Given the description of an element on the screen output the (x, y) to click on. 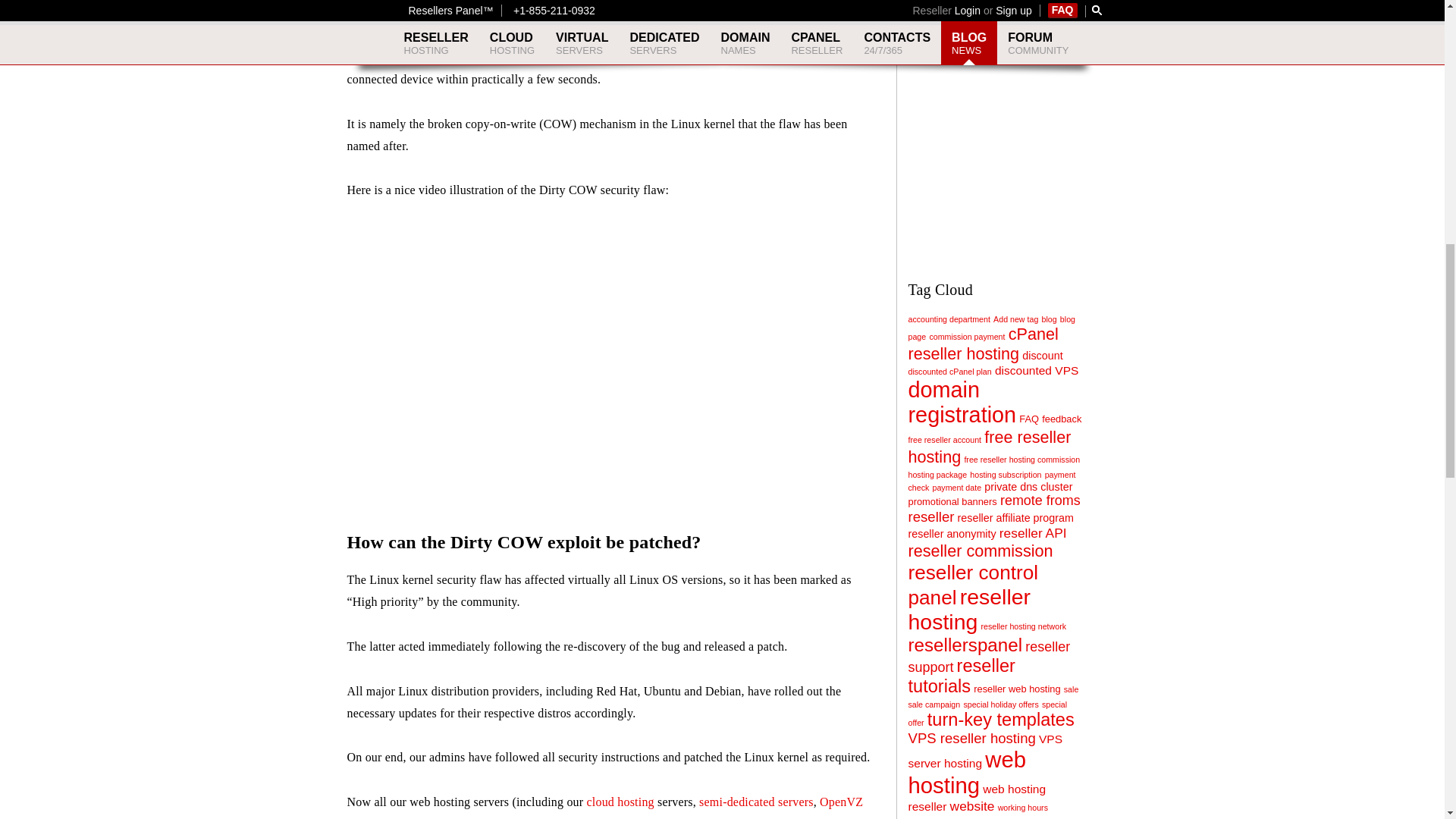
dedicated servers (575, 818)
semi-dedicated servers (755, 801)
cloud hosting (619, 801)
KVM VPS (441, 818)
OpenVZ VPS (605, 807)
